Given the description of an element on the screen output the (x, y) to click on. 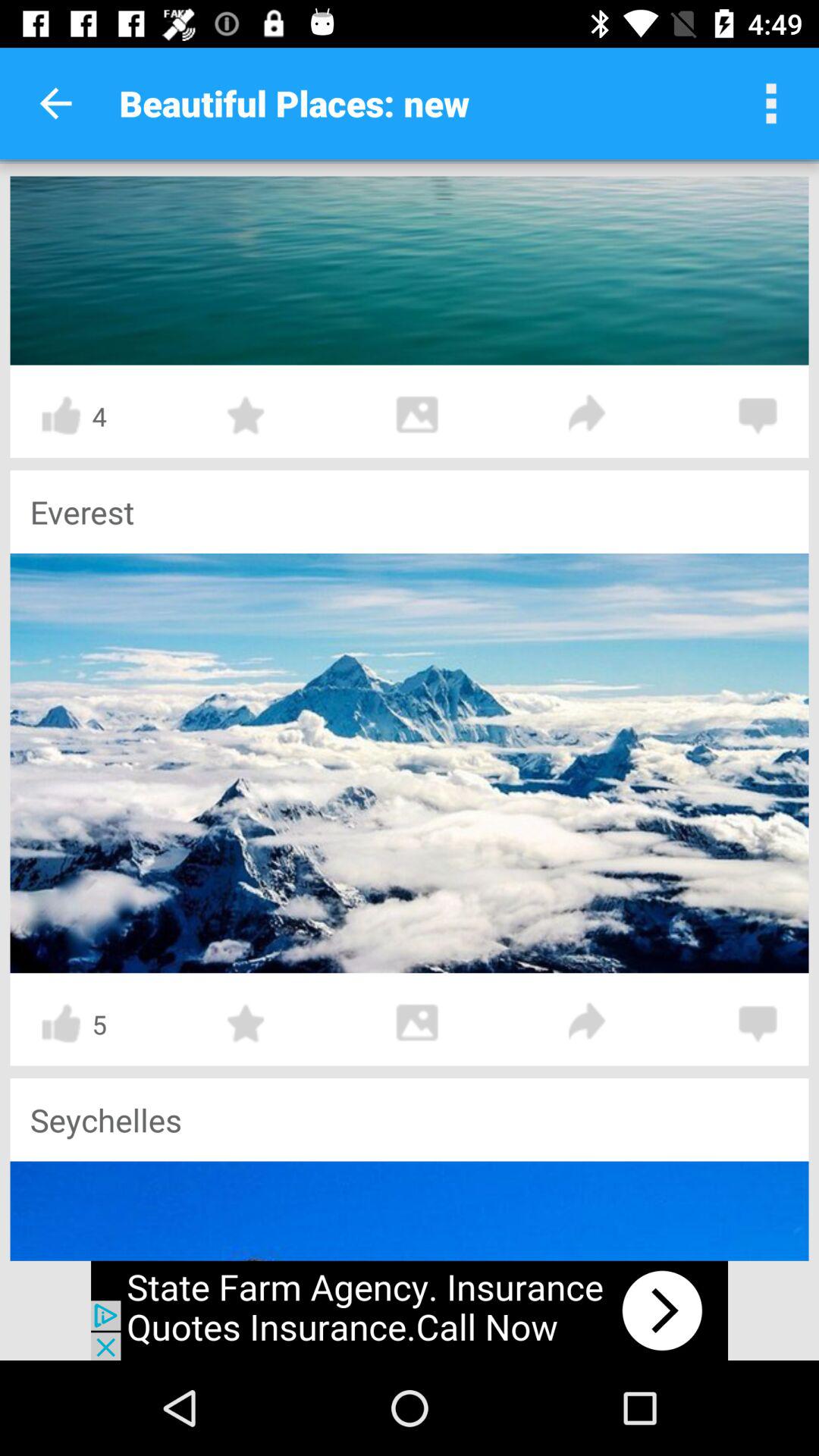
publication (409, 763)
